Given the description of an element on the screen output the (x, y) to click on. 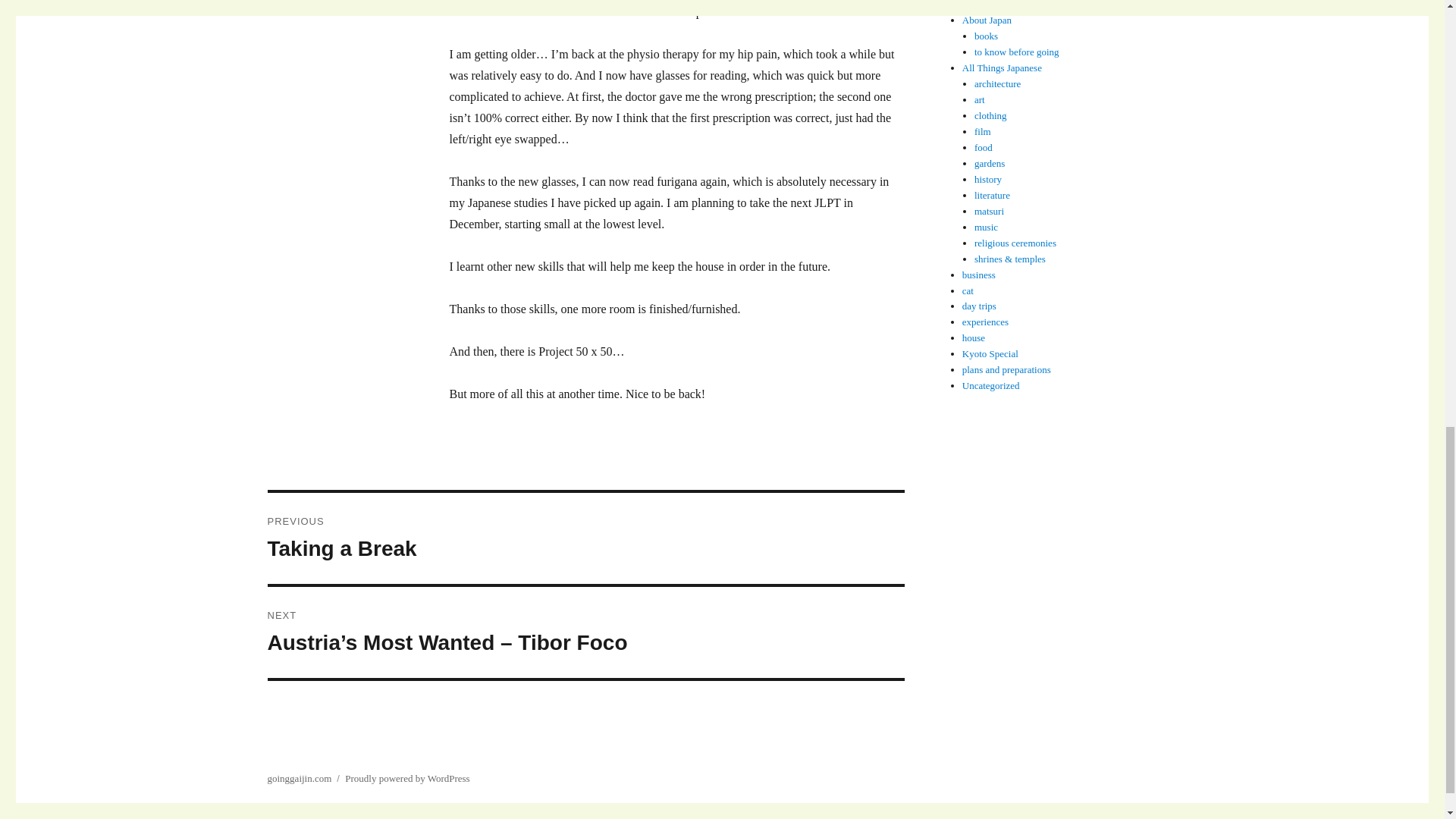
All Things Japanese (1002, 67)
About Japan (986, 19)
books (585, 538)
film (985, 35)
gardens (982, 131)
matsuri (989, 163)
literature (989, 211)
clothing (992, 194)
food (990, 115)
business (983, 147)
day trips (978, 274)
religious ceremonies (978, 306)
history (1015, 242)
to know before going (987, 179)
